Given the description of an element on the screen output the (x, y) to click on. 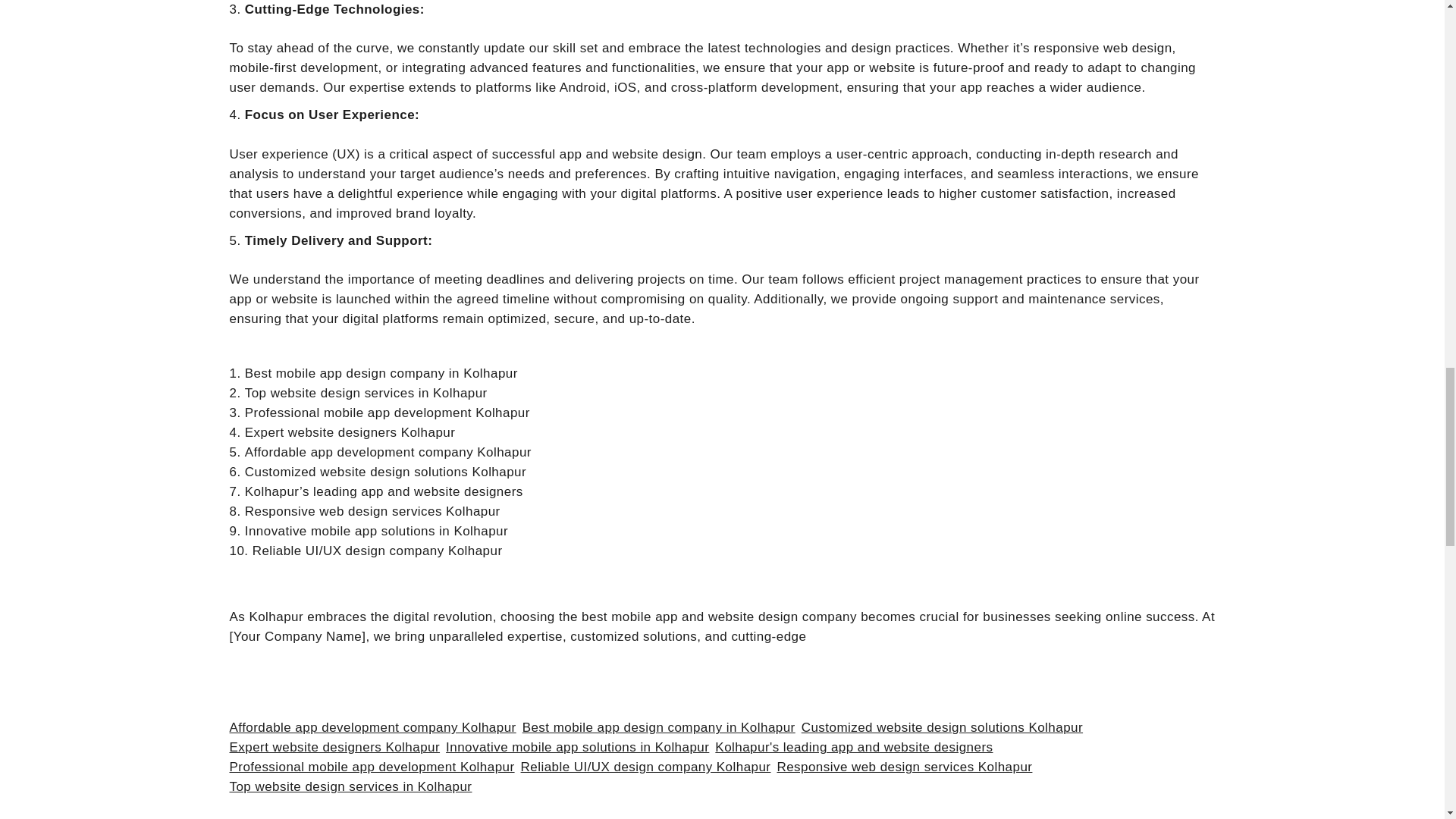
Top website design services in Kolhapur (349, 786)
Professional mobile app development Kolhapur (370, 767)
Innovative mobile app solutions in Kolhapur (577, 747)
Customized website design solutions Kolhapur (942, 727)
Expert website designers Kolhapur (333, 747)
Best mobile app design company in Kolhapur (658, 727)
Kolhapur's leading app and website designers (853, 747)
Affordable app development company Kolhapur (371, 727)
Responsive web design services Kolhapur (904, 767)
